Given the description of an element on the screen output the (x, y) to click on. 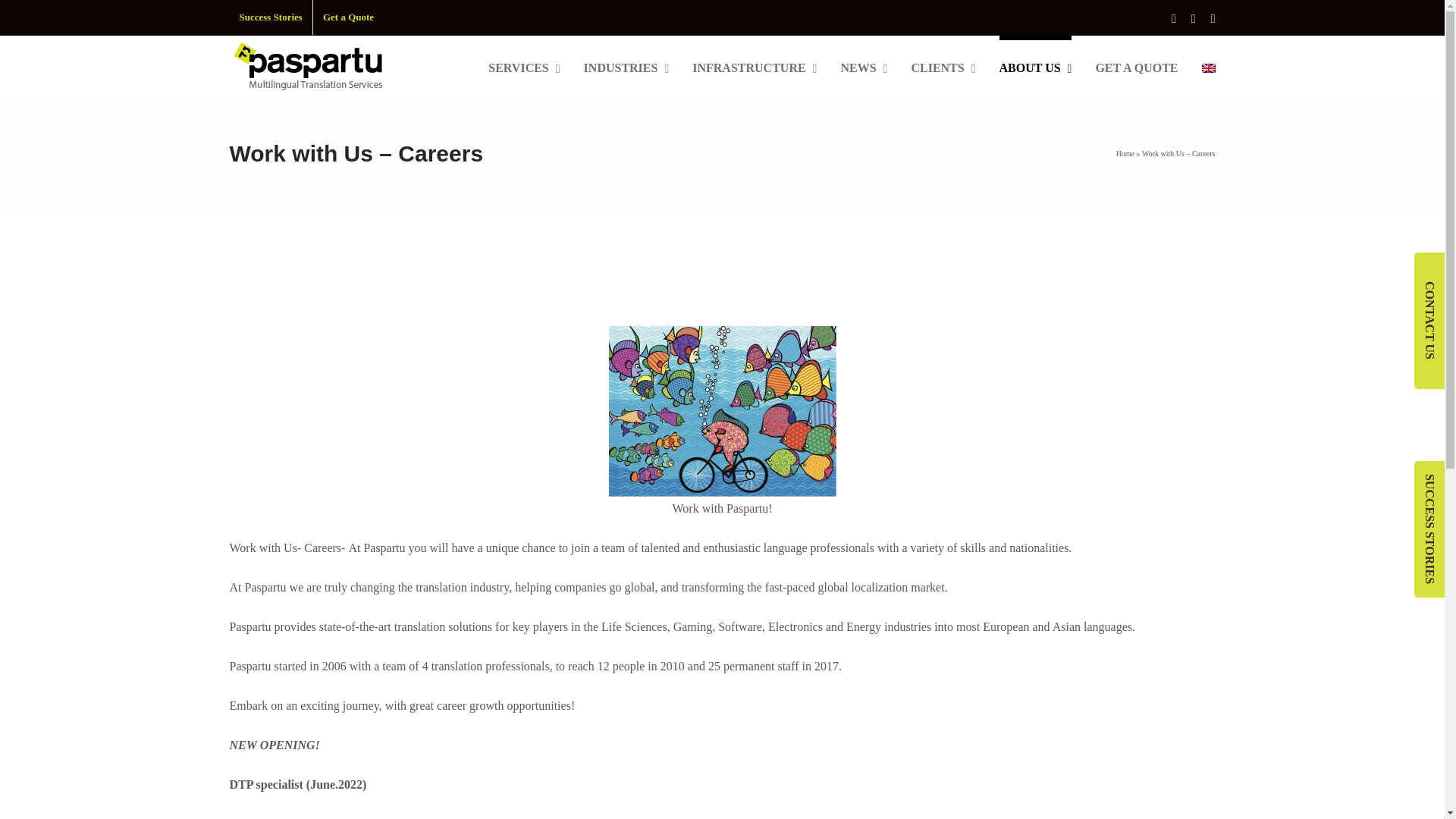
Success Stories (269, 17)
Get a Quote (348, 17)
SERVICES (523, 66)
INDUSTRIES (626, 66)
